Given the description of an element on the screen output the (x, y) to click on. 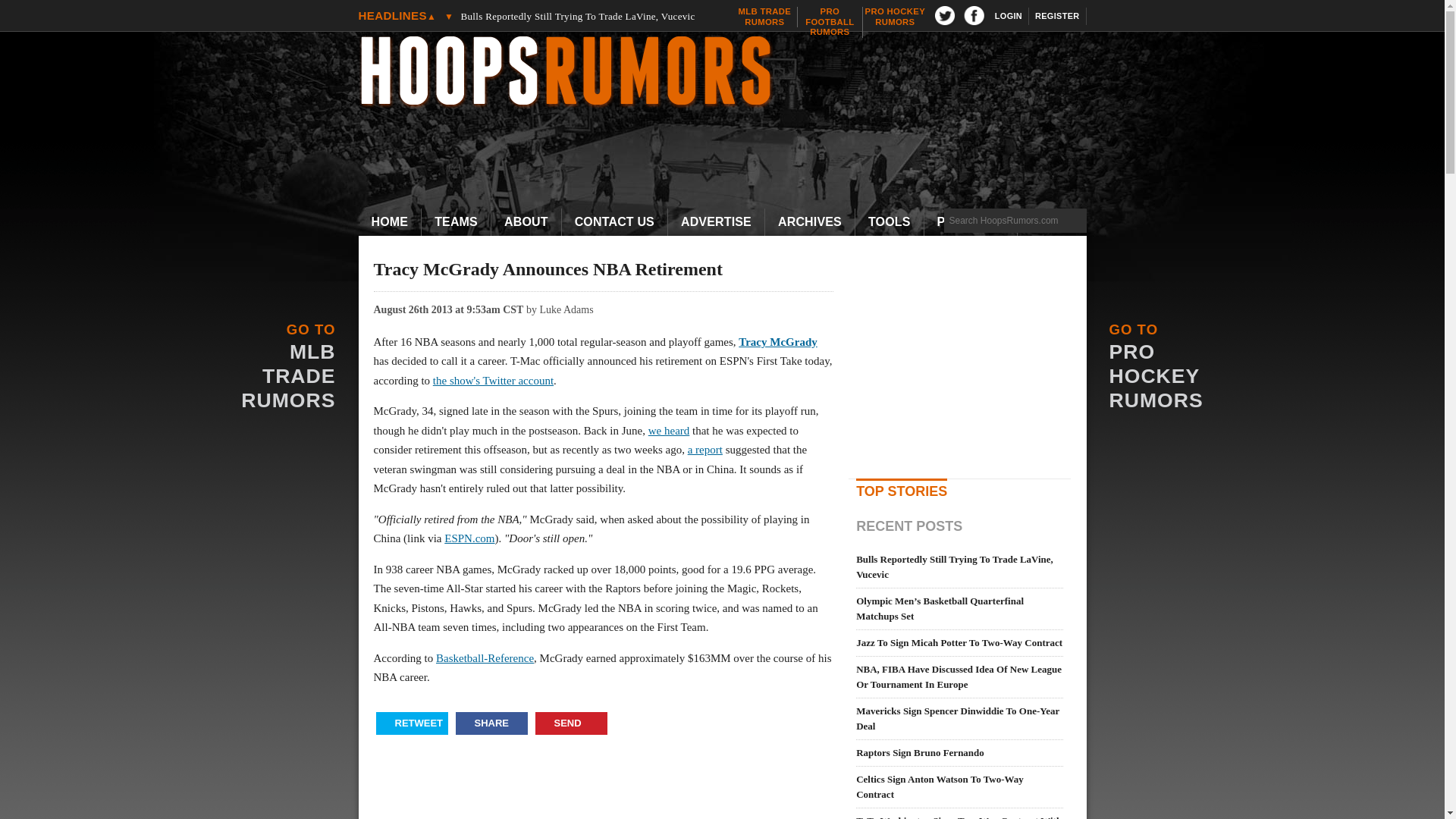
Hoops Rumors (764, 16)
HOME (829, 21)
teams (729, 72)
LOGIN (390, 221)
Share 'Tracy McGrady Announces NBA Retirement' on Facebook (457, 221)
Bulls Reportedly Still Trying To Trade LaVine, Vucevic (895, 16)
REGISTER (1008, 16)
TEAMS (490, 722)
Search for: (585, 16)
Send Tracy McGrady Announces NBA Retirement with an email (1057, 16)
TyTy Washington Signs Two-Way Contract With Suns (457, 221)
